Given the description of an element on the screen output the (x, y) to click on. 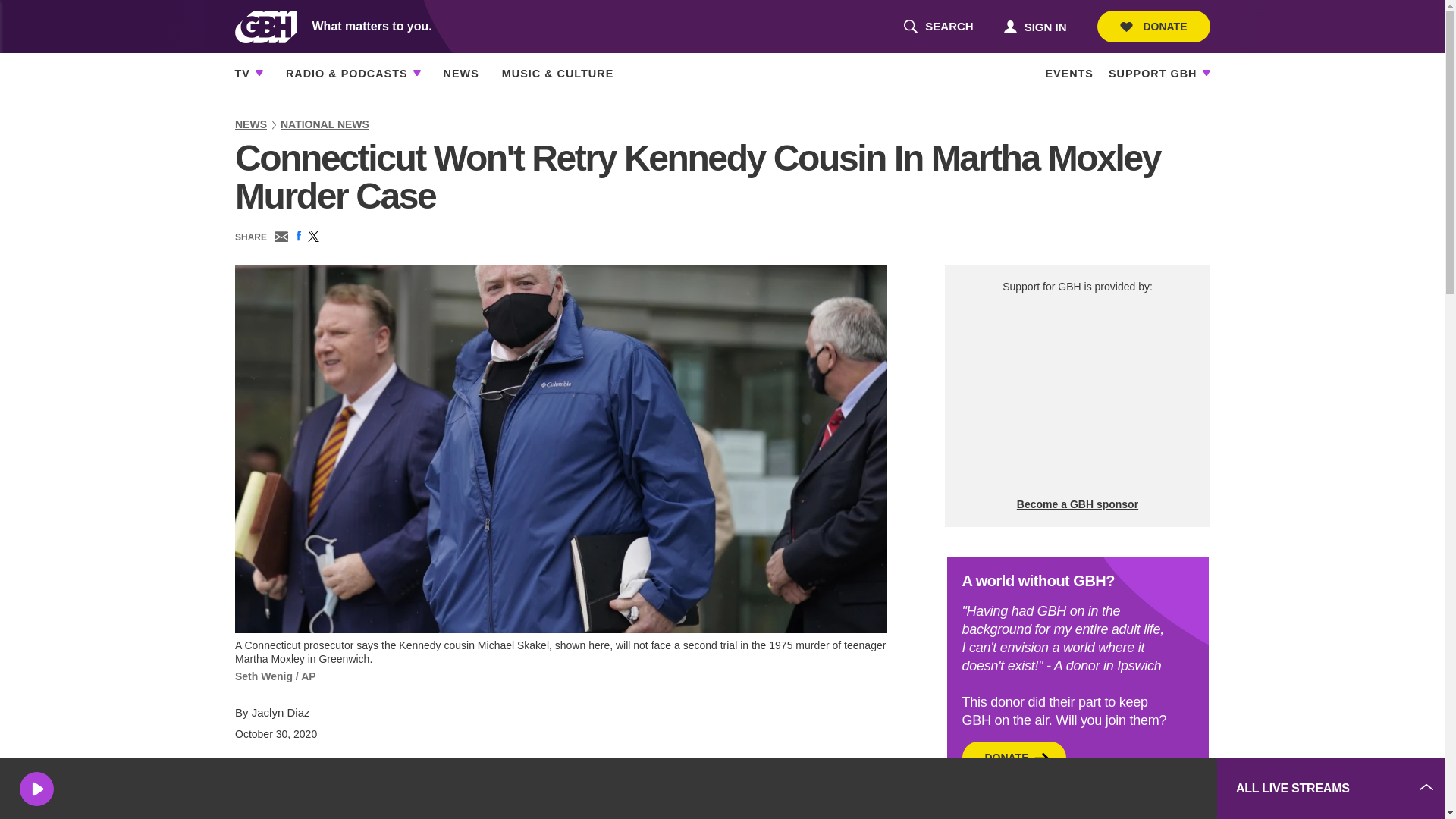
3rd party ad content (1076, 395)
DONATE (1153, 26)
3rd party ad content (1091, 788)
SIGN IN (937, 26)
